Given the description of an element on the screen output the (x, y) to click on. 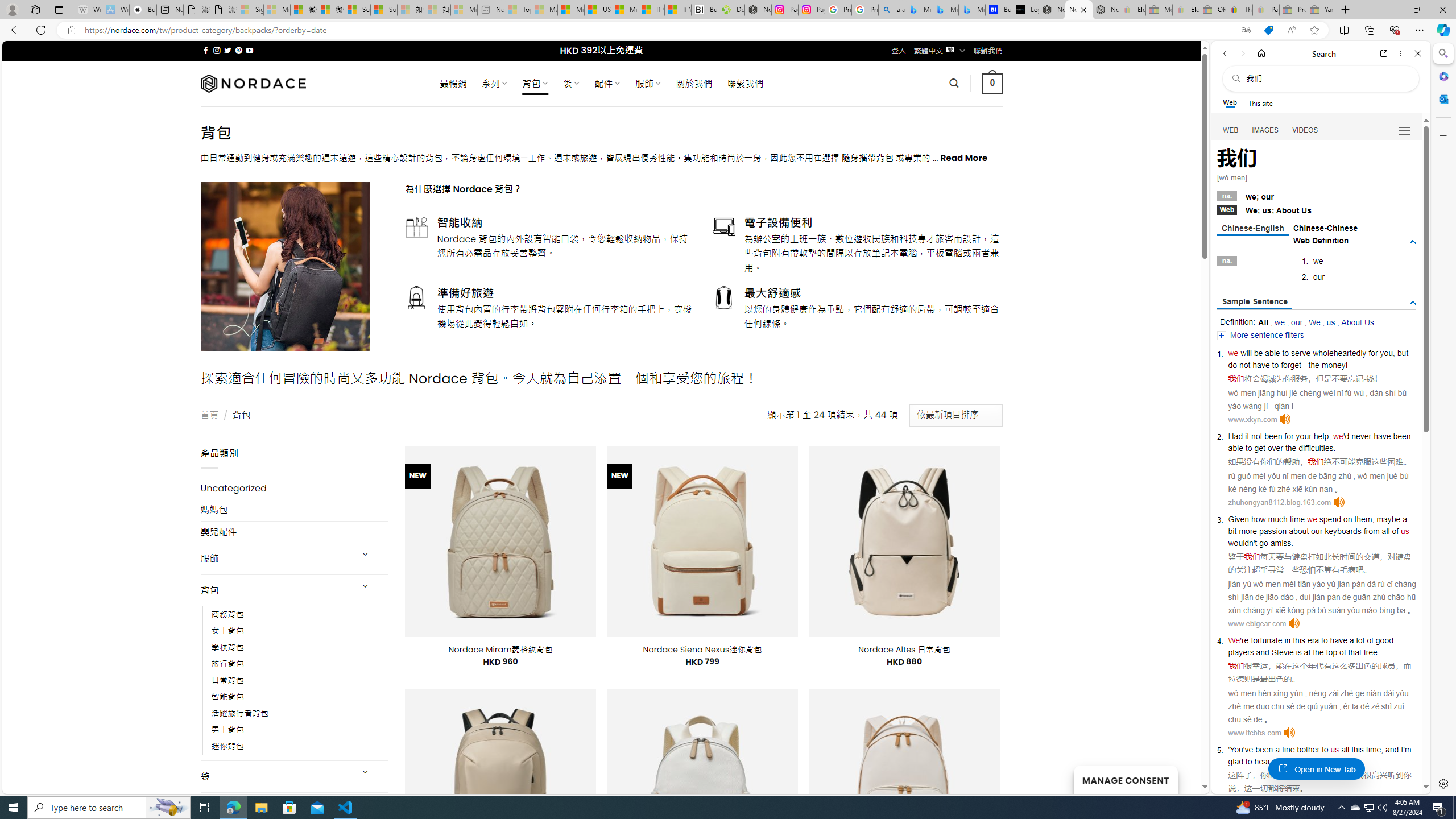
good (1384, 640)
you (1386, 352)
a bit (1316, 524)
from (1371, 530)
. (1330, 760)
